Given the description of an element on the screen output the (x, y) to click on. 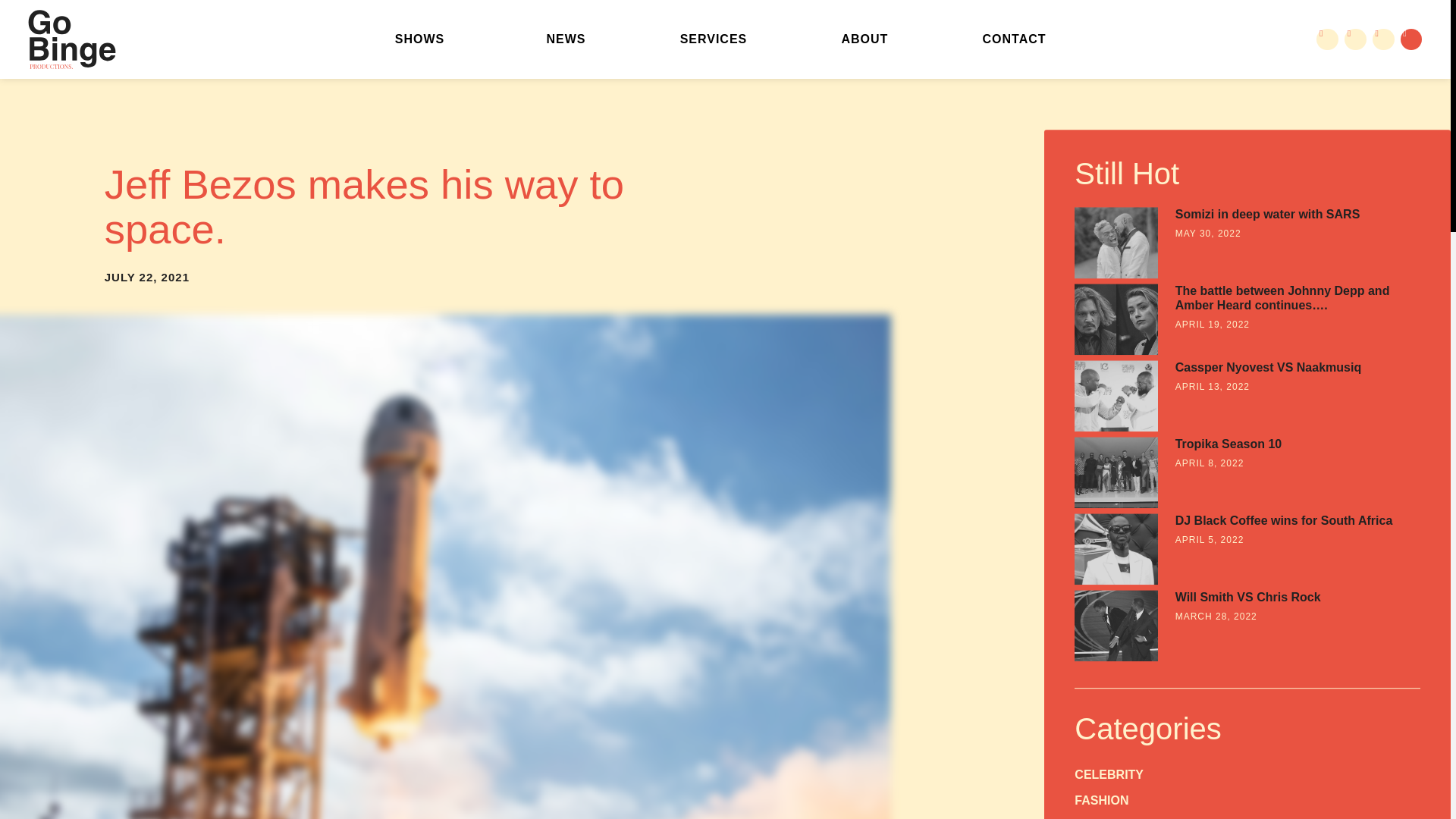
CONTACT (1013, 38)
NEWS (566, 38)
ABOUT (864, 38)
SHOWS (423, 38)
SERVICES (713, 38)
